Given the description of an element on the screen output the (x, y) to click on. 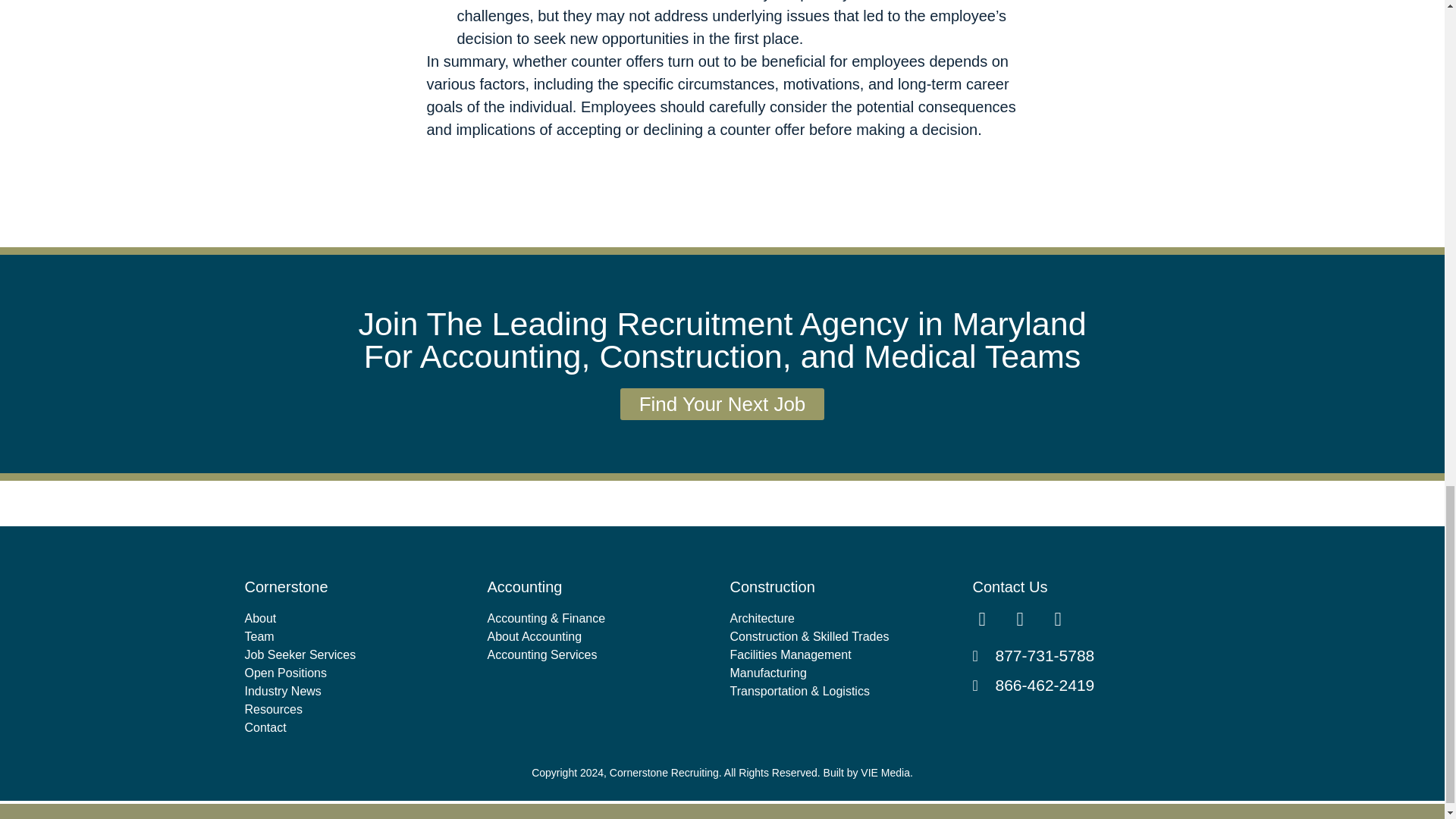
Job Seeker Services (357, 655)
About (357, 618)
Find Your Next Job (722, 404)
Team (357, 637)
